Given the description of an element on the screen output the (x, y) to click on. 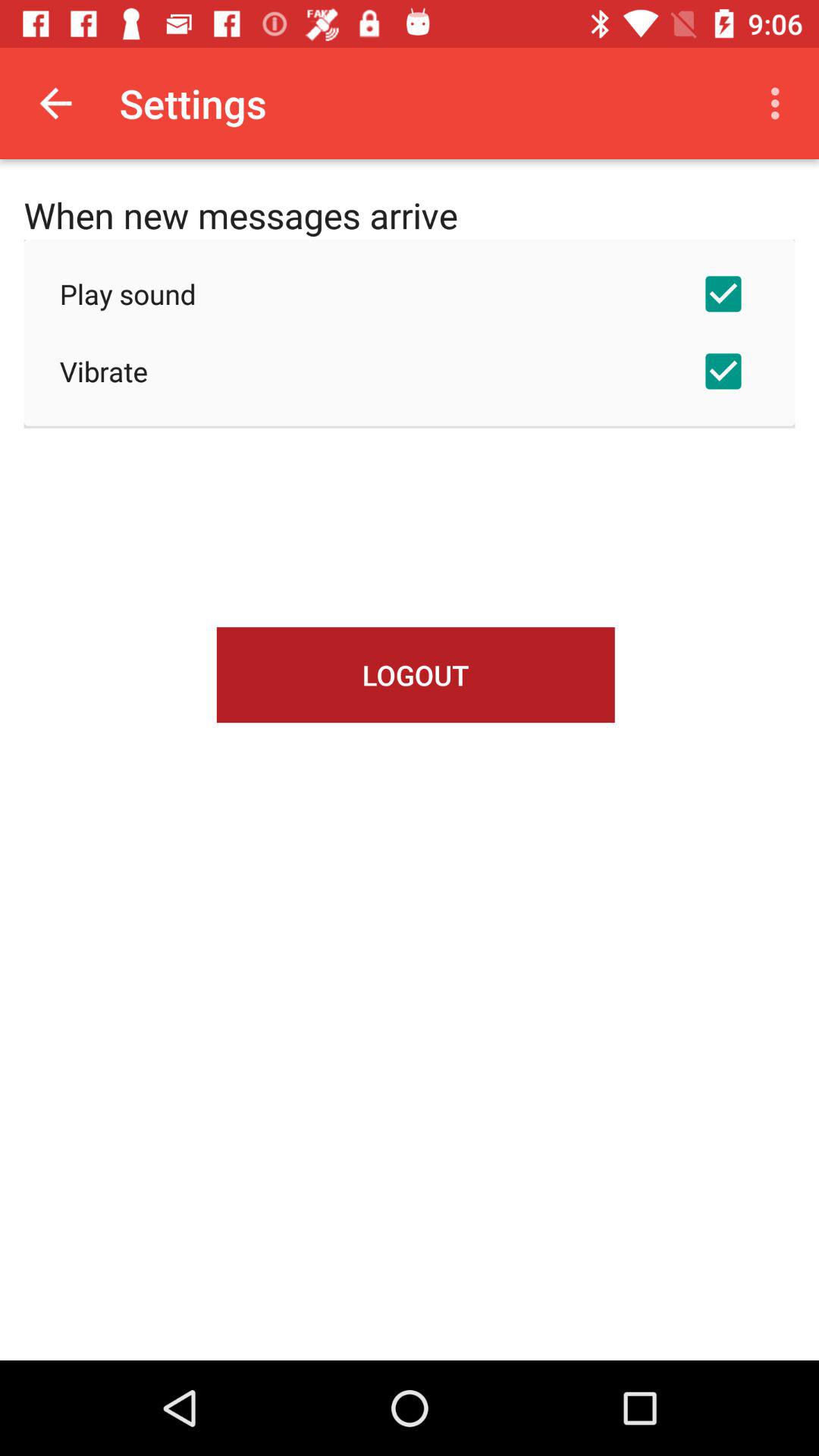
open item below play sound (409, 371)
